Given the description of an element on the screen output the (x, y) to click on. 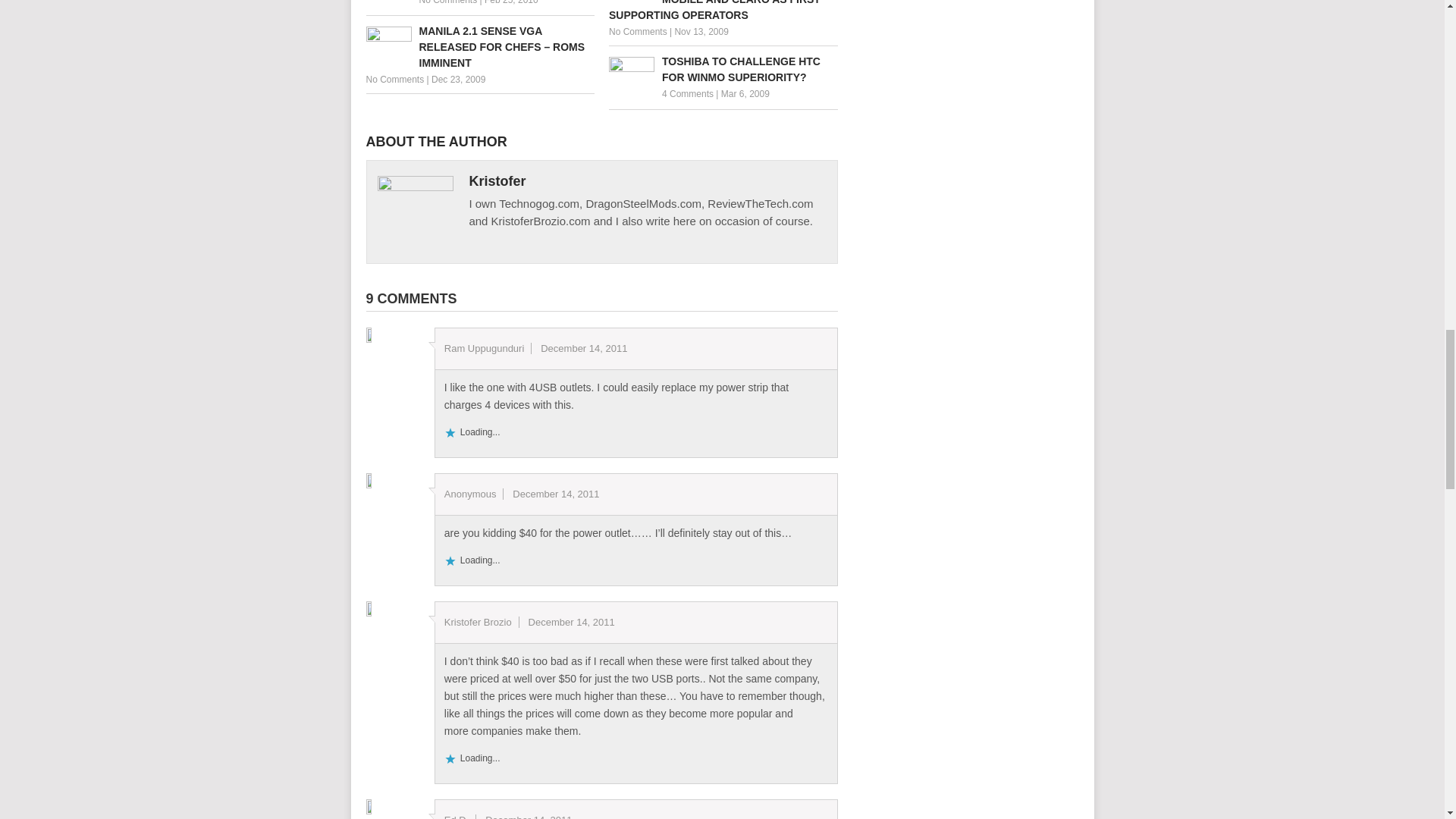
No Comments (394, 79)
TOSHIBA TO CHALLENGE HTC FOR WINMO SUPERIORITY? (723, 69)
No Comments (637, 31)
No Comments (448, 2)
4 Comments (687, 93)
